Given the description of an element on the screen output the (x, y) to click on. 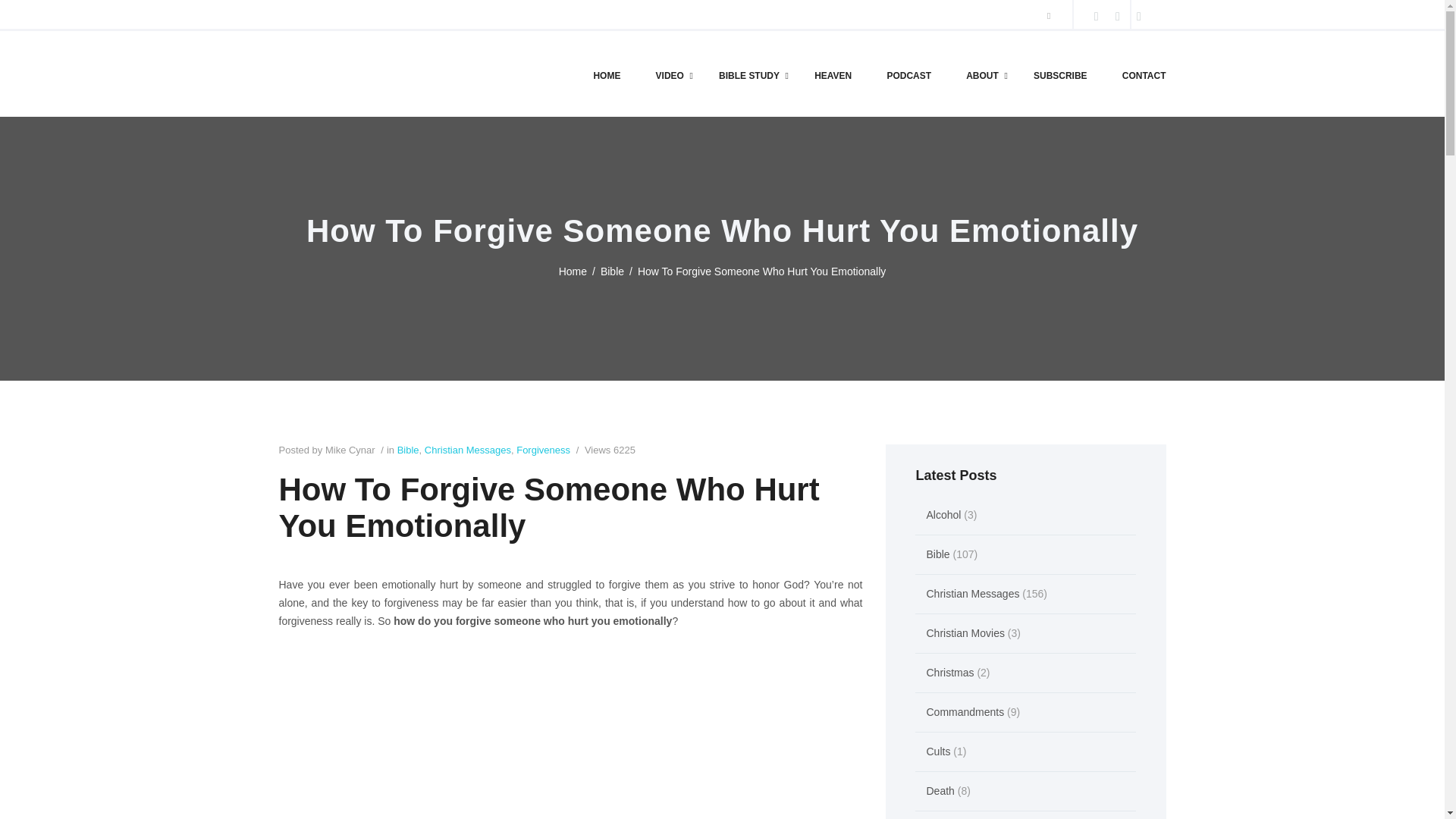
Open search (1048, 16)
Grace-Based Bible Studies Branded (392, 732)
BIBLE STUDY (748, 75)
VIDEO (670, 75)
Views - 6225 (623, 449)
HOME (606, 75)
